Given the description of an element on the screen output the (x, y) to click on. 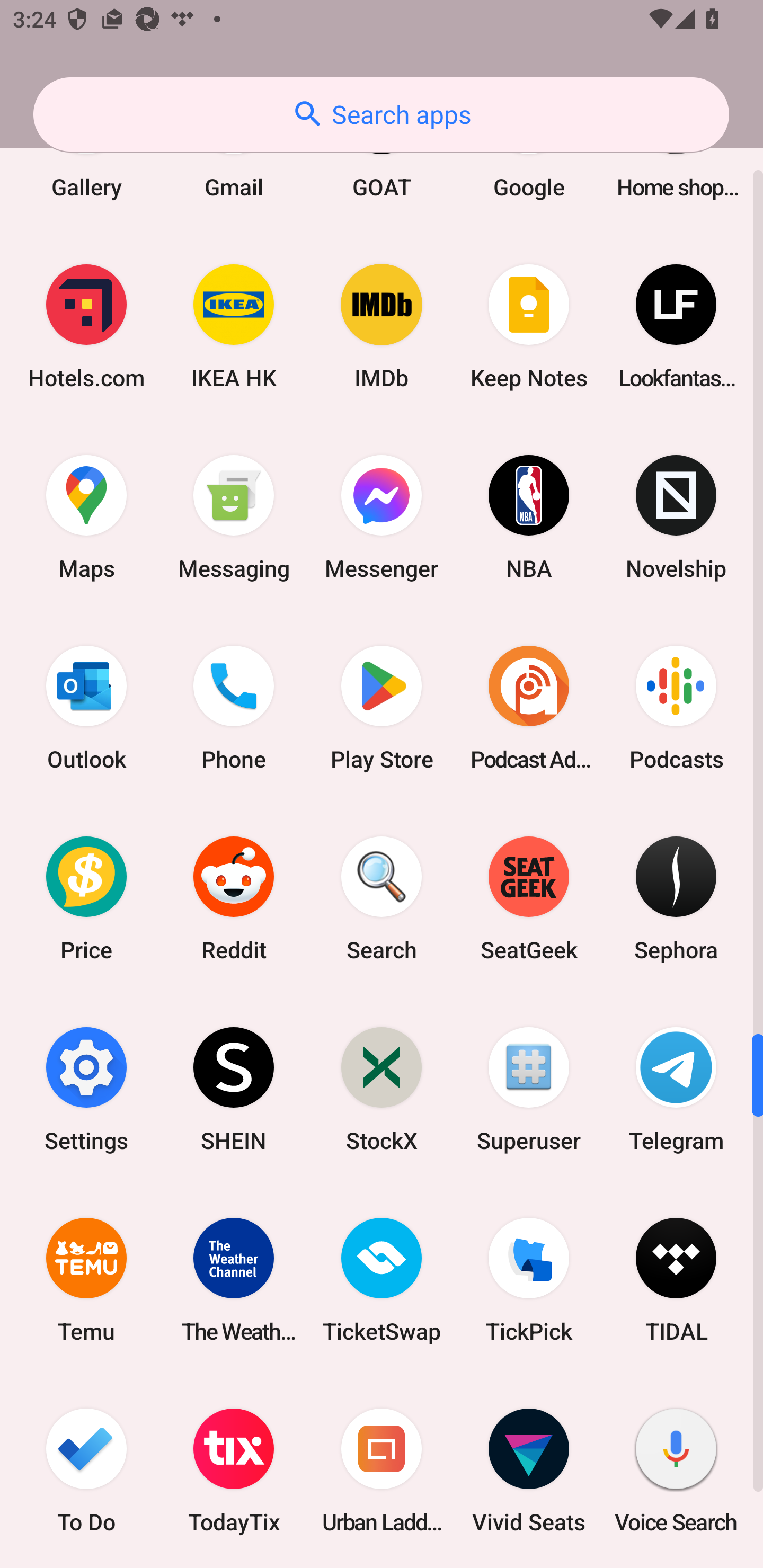
To Do (86, 1470)
